Given the description of an element on the screen output the (x, y) to click on. 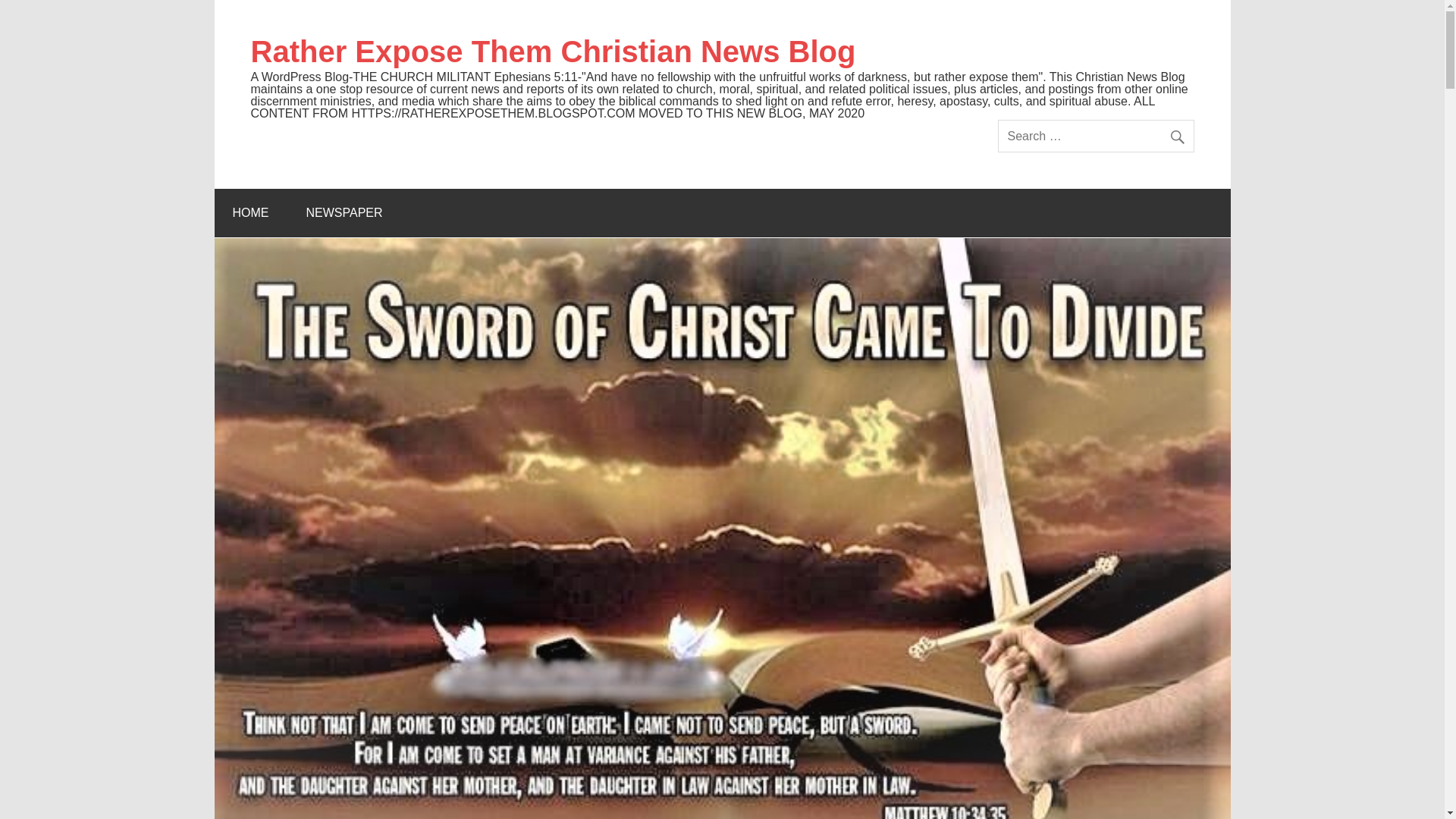
NEWSPAPER (344, 213)
Rather Expose Them Christian News Blog (553, 51)
HOME (250, 213)
